Given the description of an element on the screen output the (x, y) to click on. 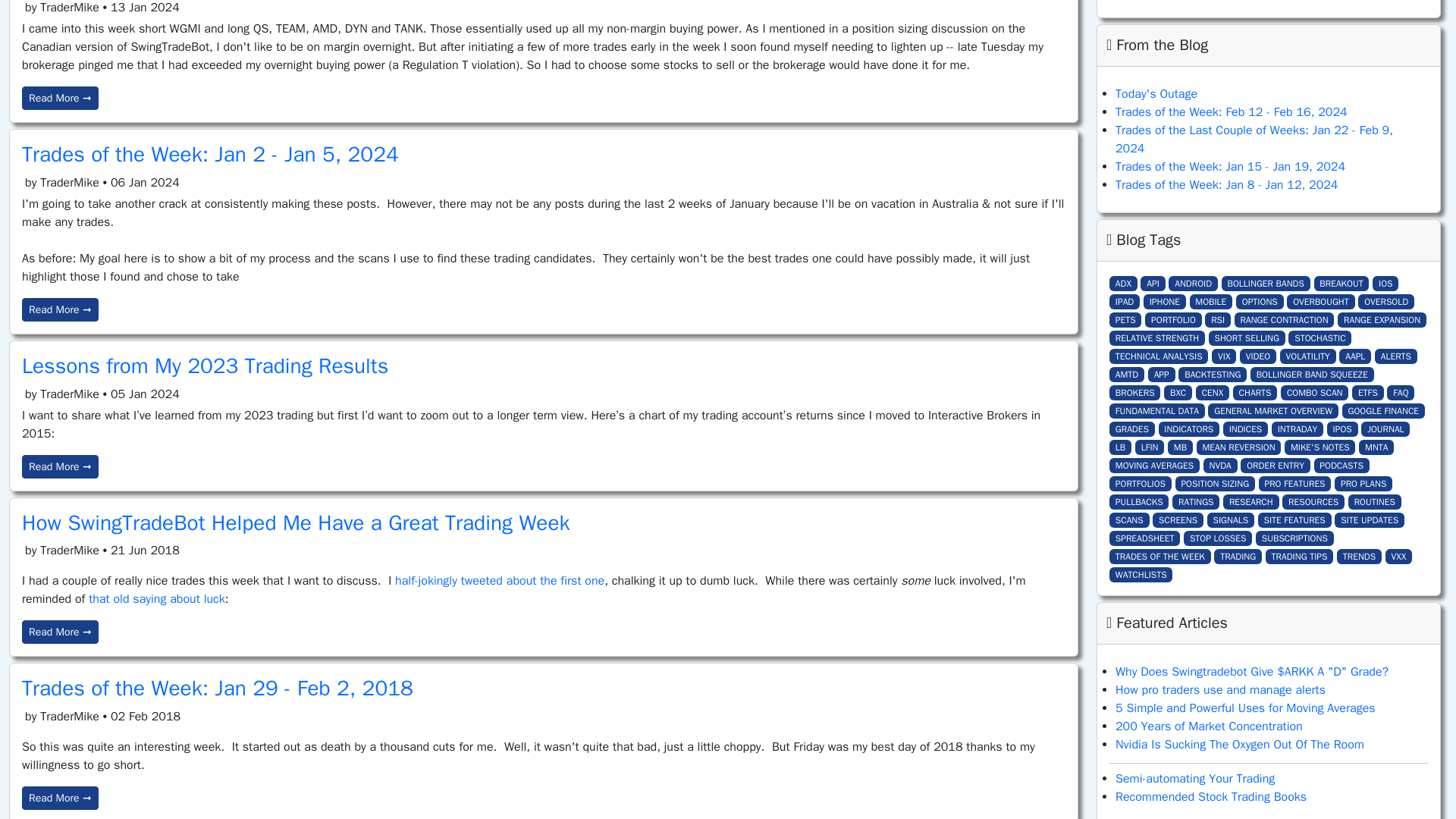
Lessons from My 2023 Trading Results (204, 365)
half-jokingly tweeted about the first one (499, 580)
Trades of the Week: Jan 29 - Feb 2, 2018 (217, 687)
Trades of the Week: Jan 2 - Jan 5, 2024 (209, 153)
that old saying about luck (156, 598)
How SwingTradeBot Helped Me Have a Great Trading Week (295, 522)
